Given the description of an element on the screen output the (x, y) to click on. 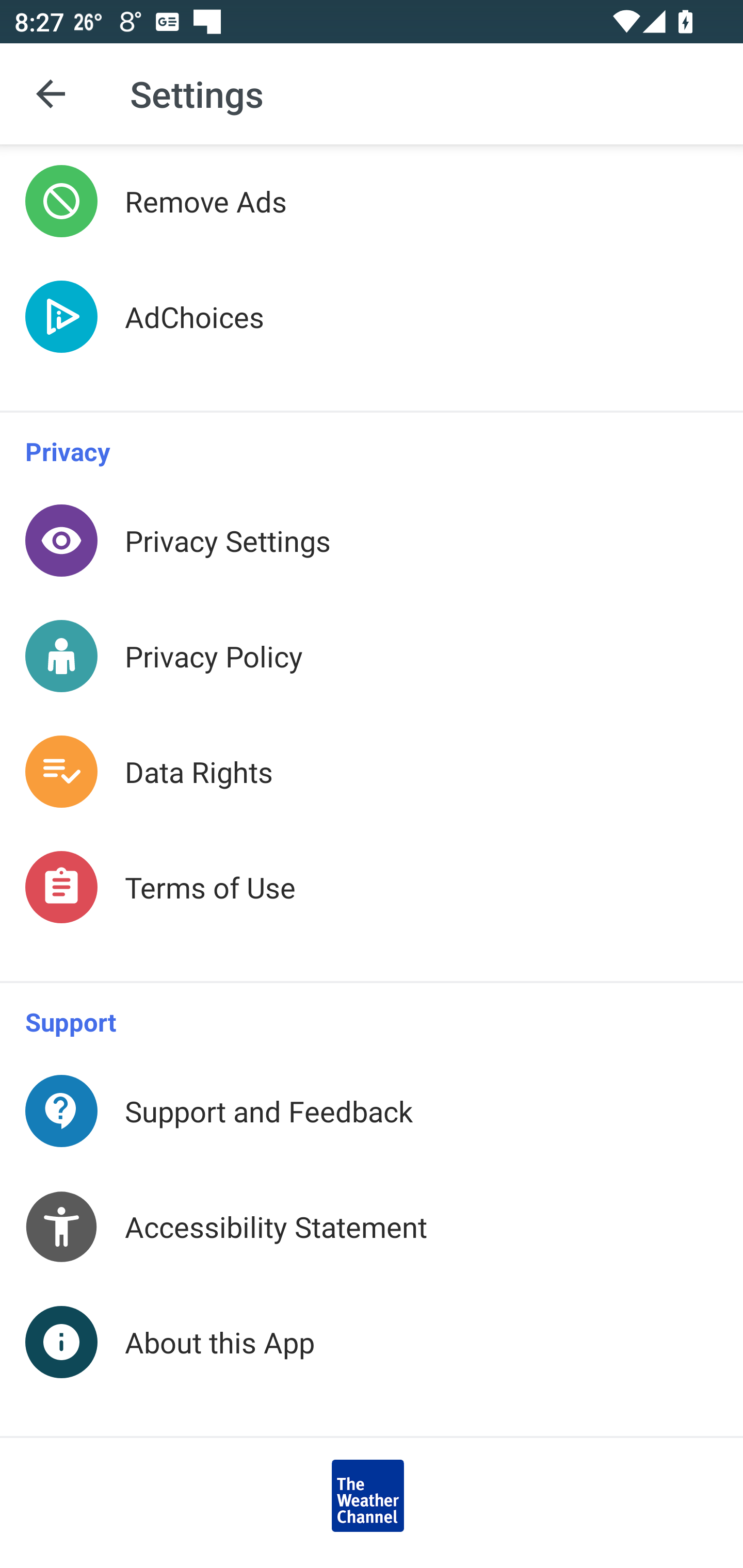
Navigate up (50, 93)
Setting icon Remove Ads (371, 201)
Setting icon AdChoices (371, 334)
Setting icon Privacy Settings (371, 540)
Setting icon Privacy Policy (371, 655)
Setting icon Data Rights (371, 771)
Setting icon Terms of Use (371, 905)
Setting icon Support and Feedback (371, 1110)
Setting icon Accessibility Statement (371, 1226)
Setting icon About this App (371, 1360)
Setting icon (371, 1495)
